Given the description of an element on the screen output the (x, y) to click on. 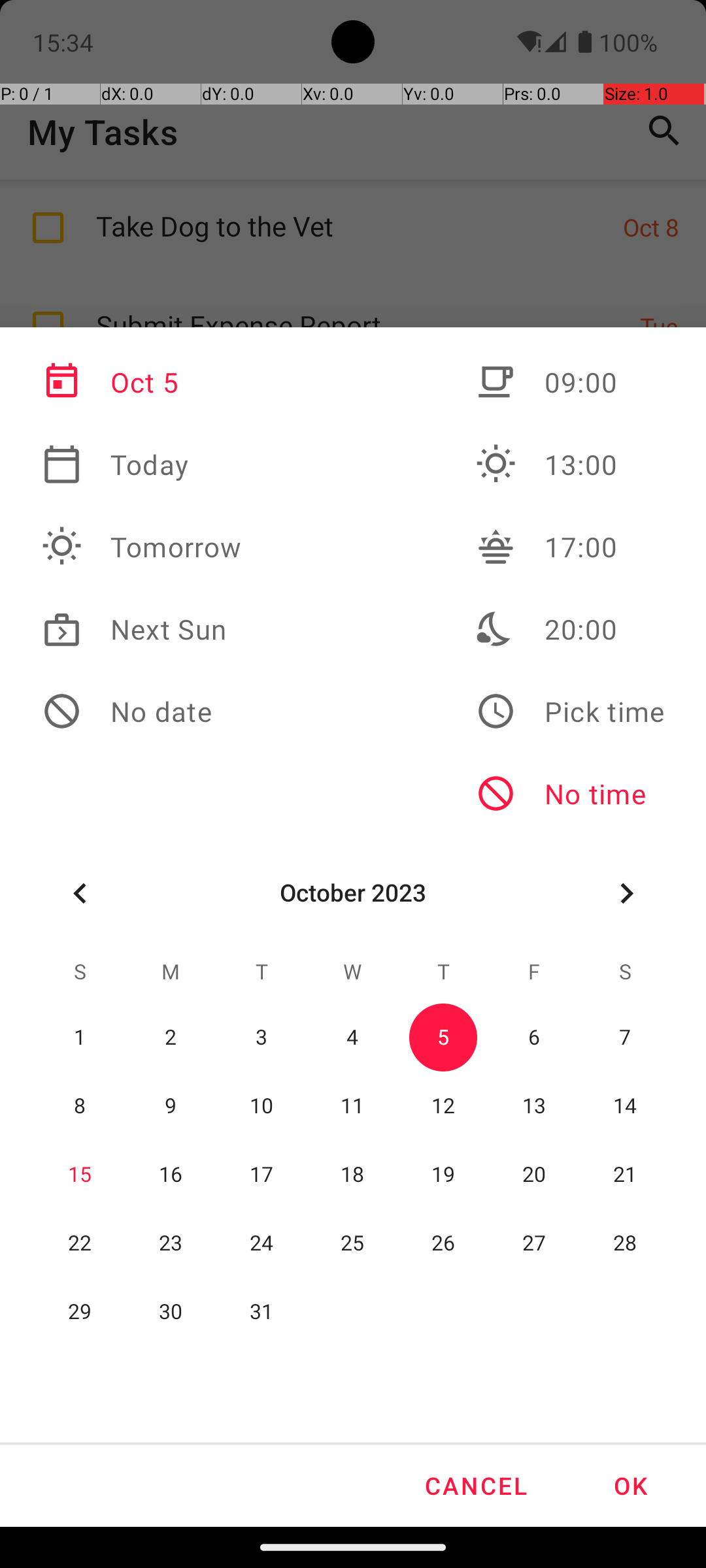
Oct 5 Element type: android.widget.CompoundButton (141, 382)
